Given the description of an element on the screen output the (x, y) to click on. 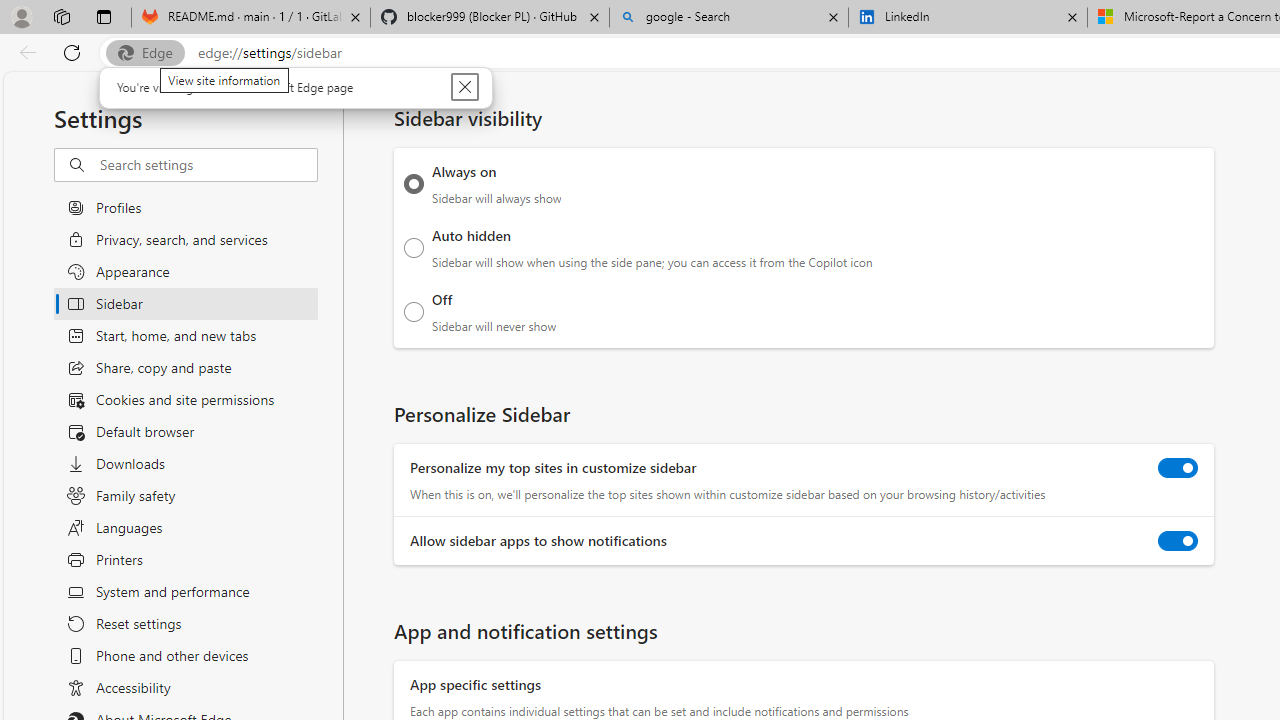
Always on Sidebar will always show (413, 183)
